Given the description of an element on the screen output the (x, y) to click on. 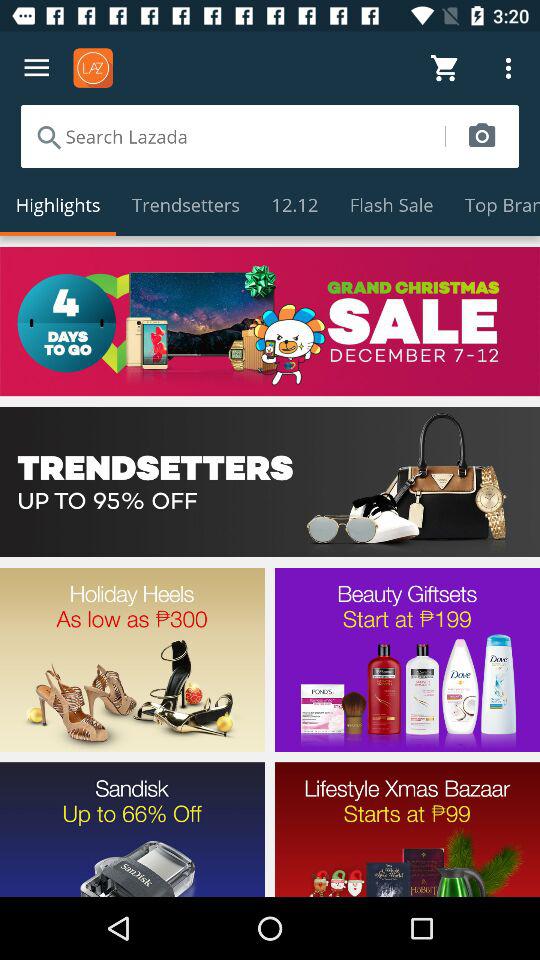
open the windows (270, 321)
